Given the description of an element on the screen output the (x, y) to click on. 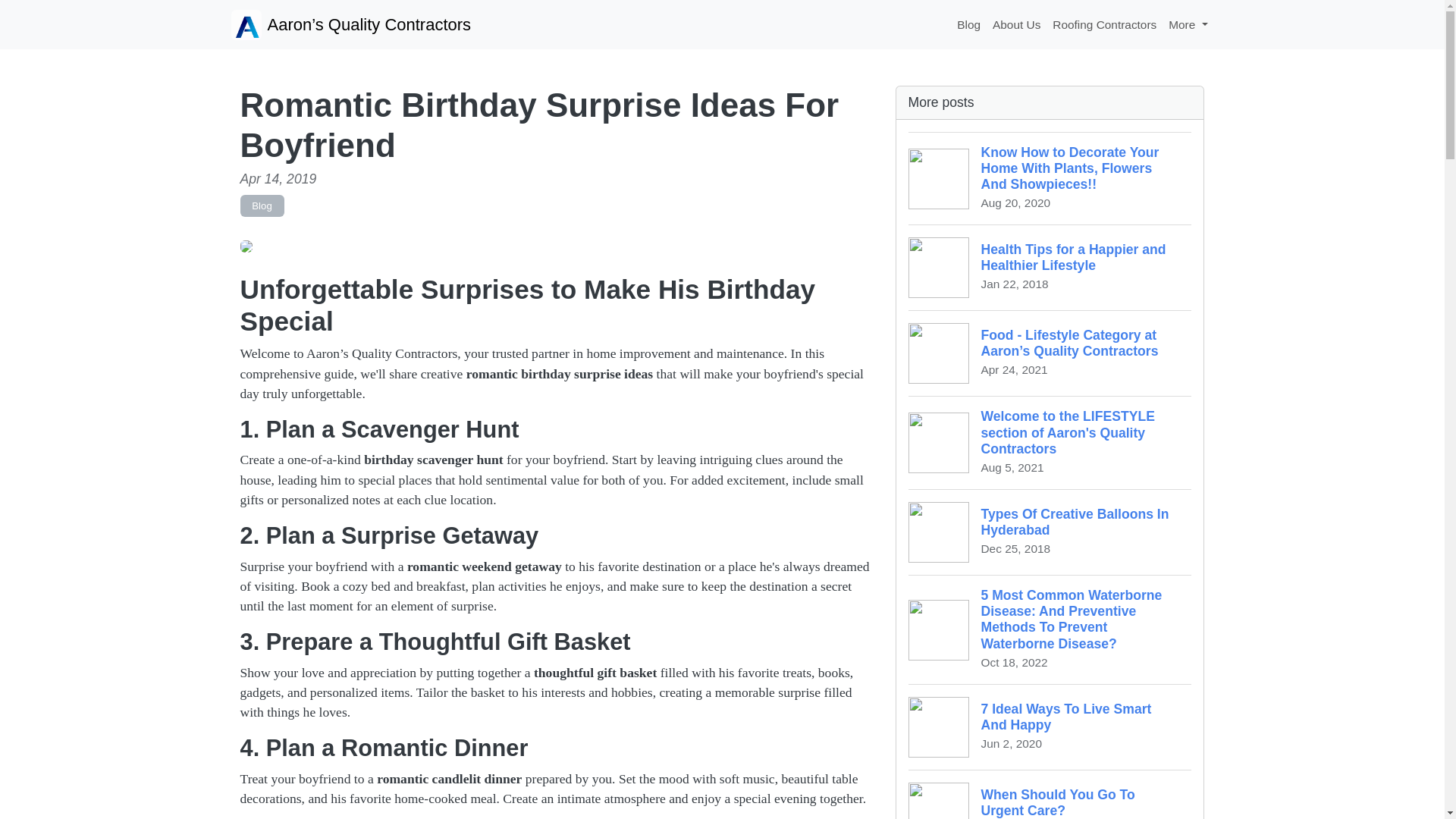
More (1186, 24)
About Us (1016, 24)
Blog (968, 24)
Roofing Contractors (1103, 24)
Blog (1050, 531)
